Given the description of an element on the screen output the (x, y) to click on. 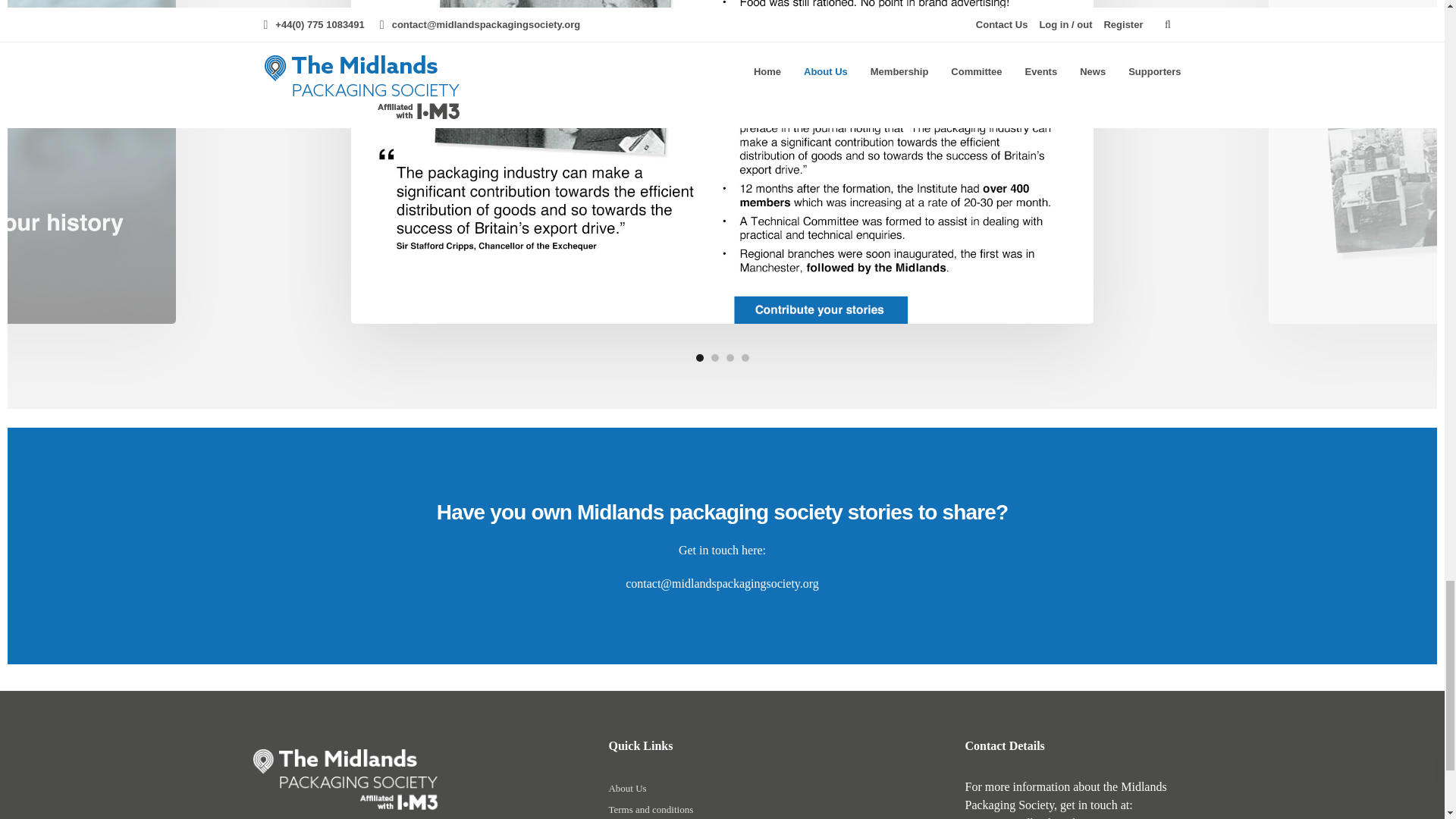
Terms and conditions (650, 811)
About Us (627, 790)
